Given the description of an element on the screen output the (x, y) to click on. 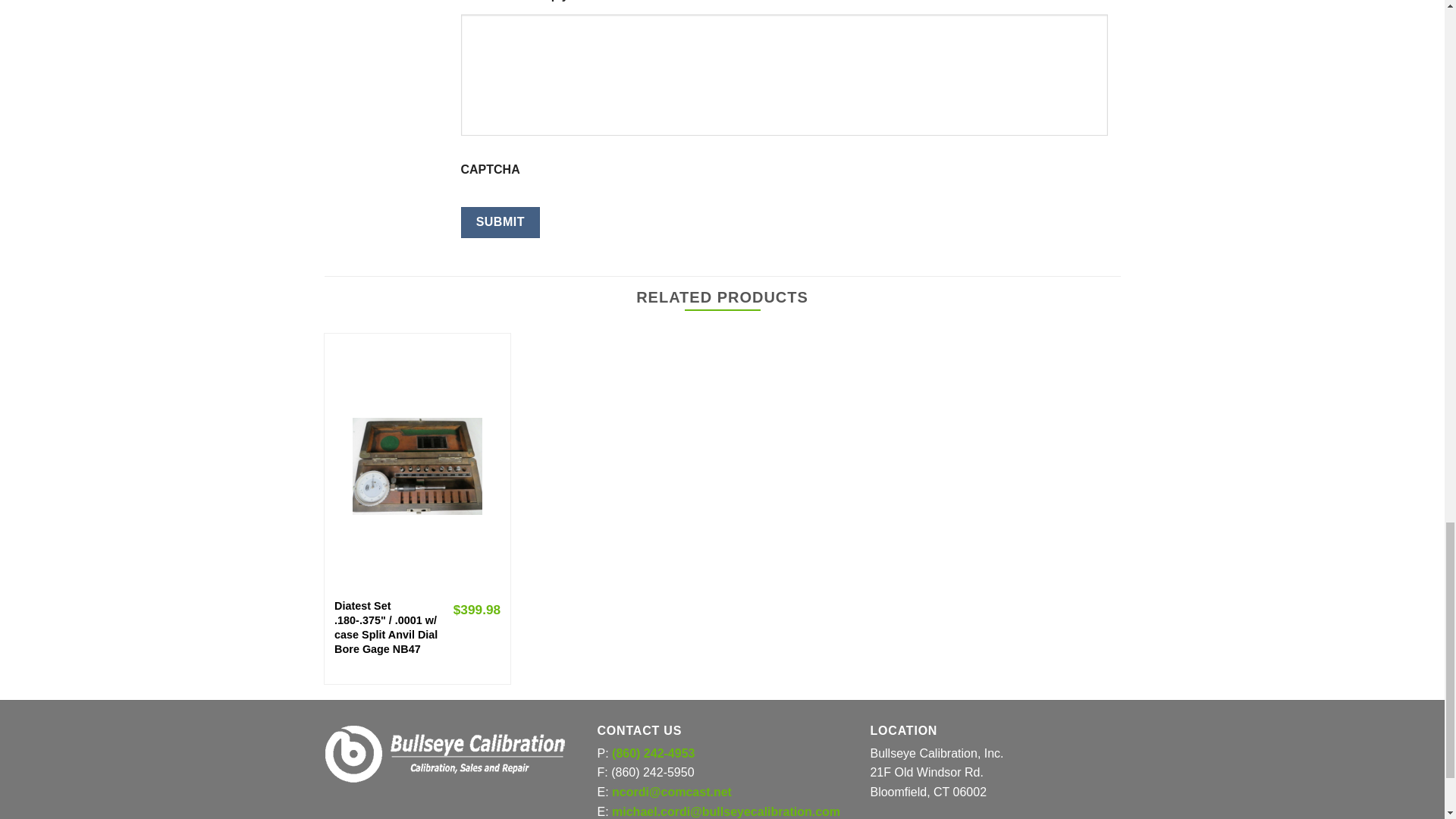
Submit (500, 222)
Submit (500, 222)
